Given the description of an element on the screen output the (x, y) to click on. 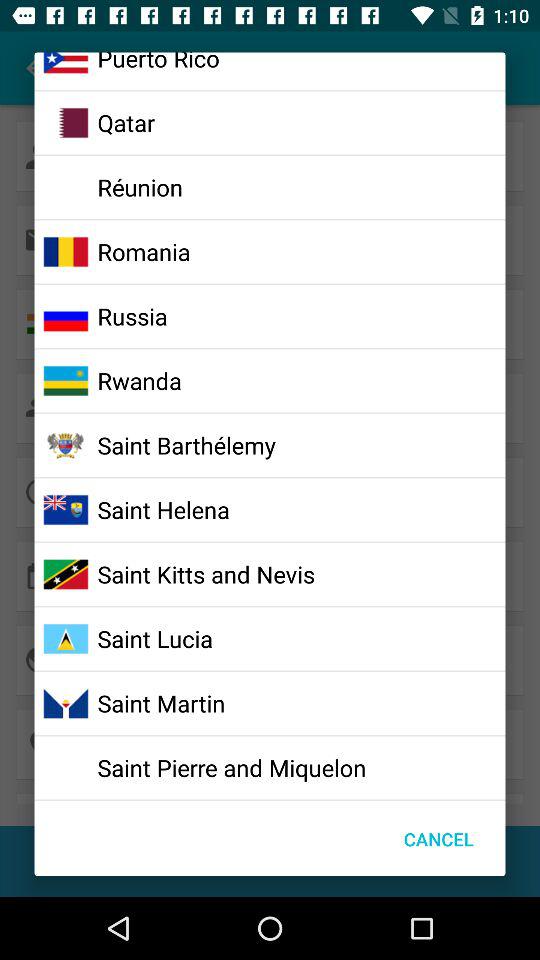
select item above rwanda item (132, 316)
